Given the description of an element on the screen output the (x, y) to click on. 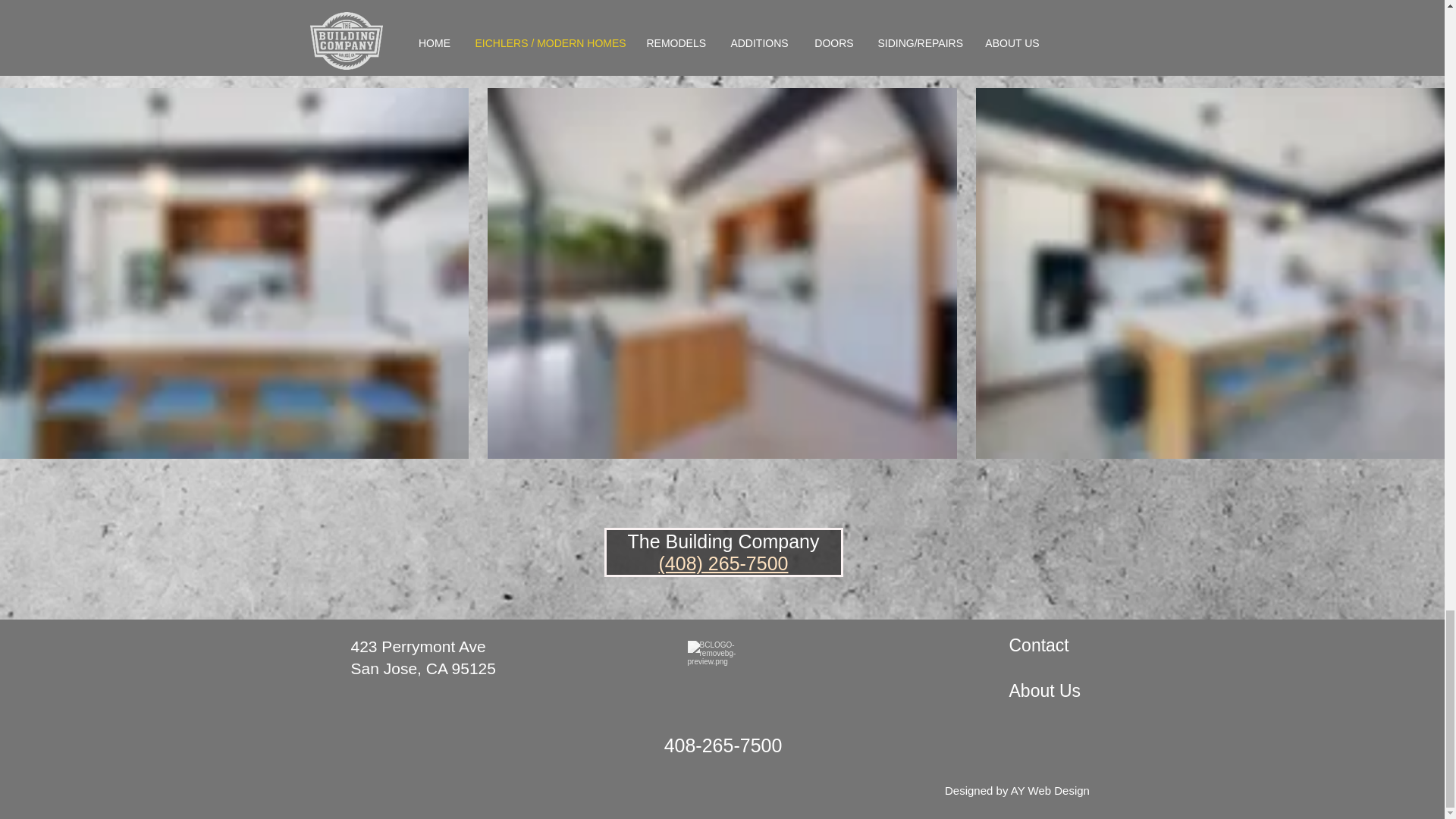
408-265-7500 (723, 744)
About Us (1044, 690)
Designed by AY Web Design (1016, 789)
Contact (1038, 645)
